Given the description of an element on the screen output the (x, y) to click on. 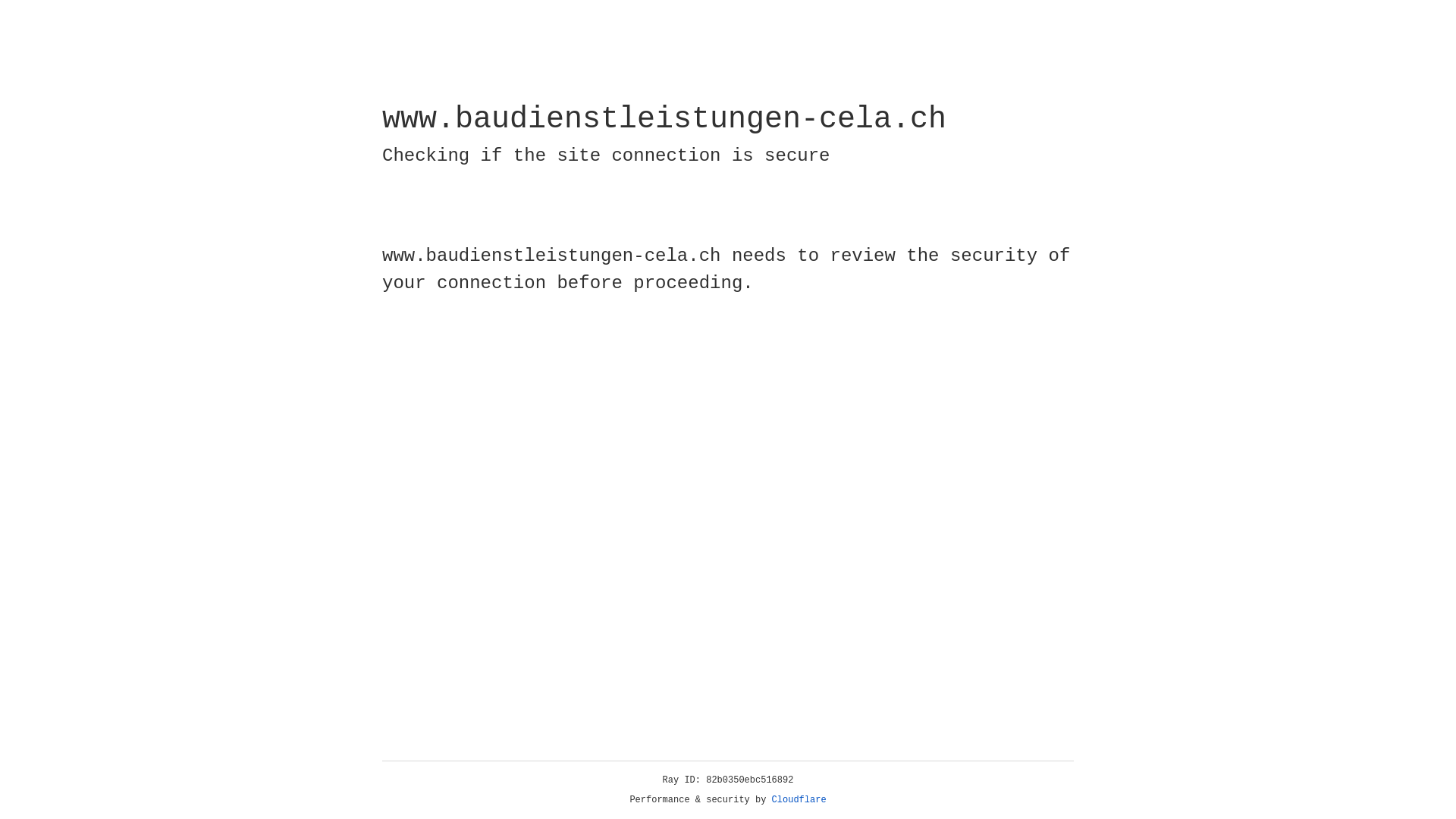
Cloudflare Element type: text (798, 799)
